Given the description of an element on the screen output the (x, y) to click on. 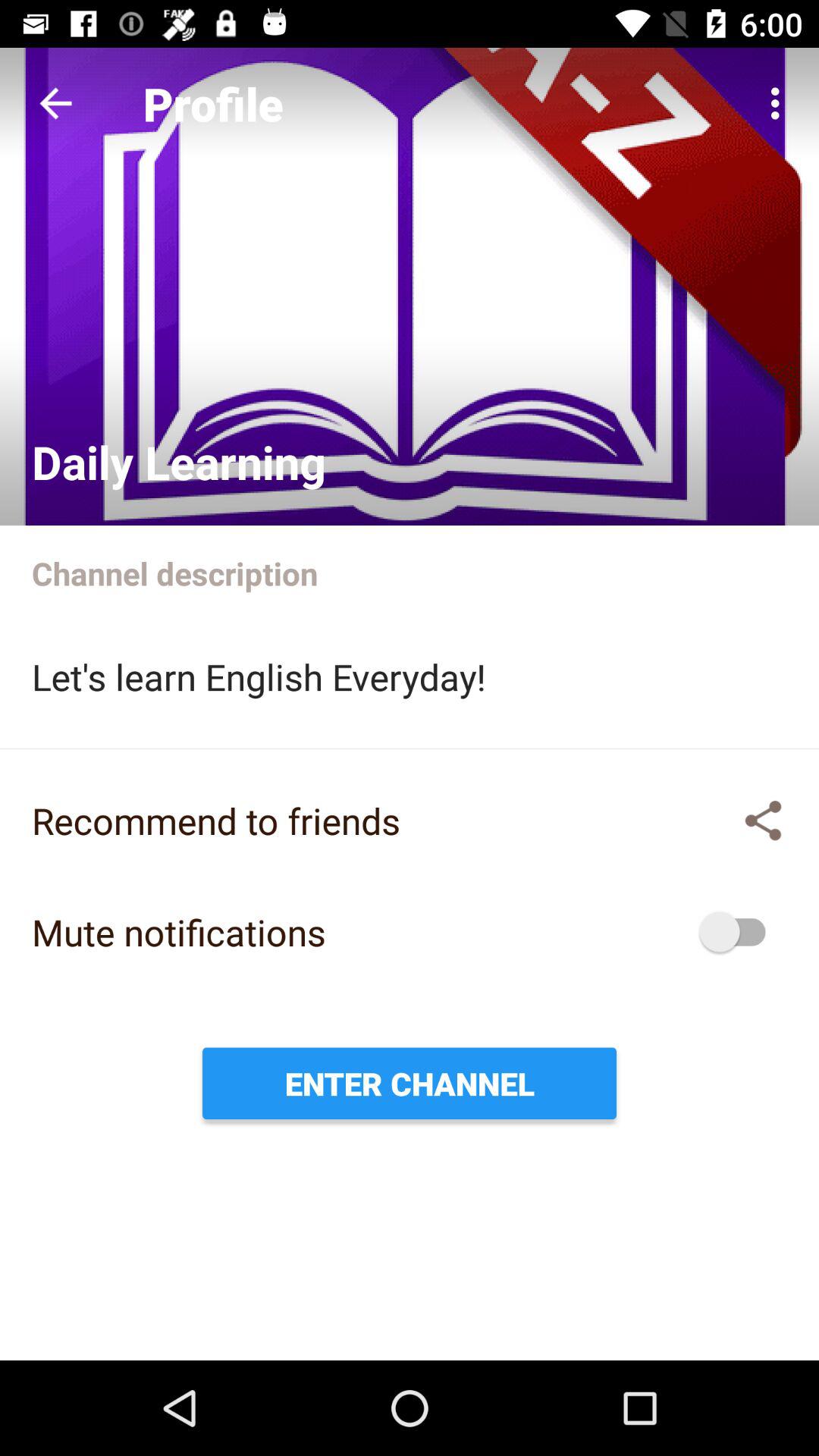
previous button (55, 103)
